Given the description of an element on the screen output the (x, y) to click on. 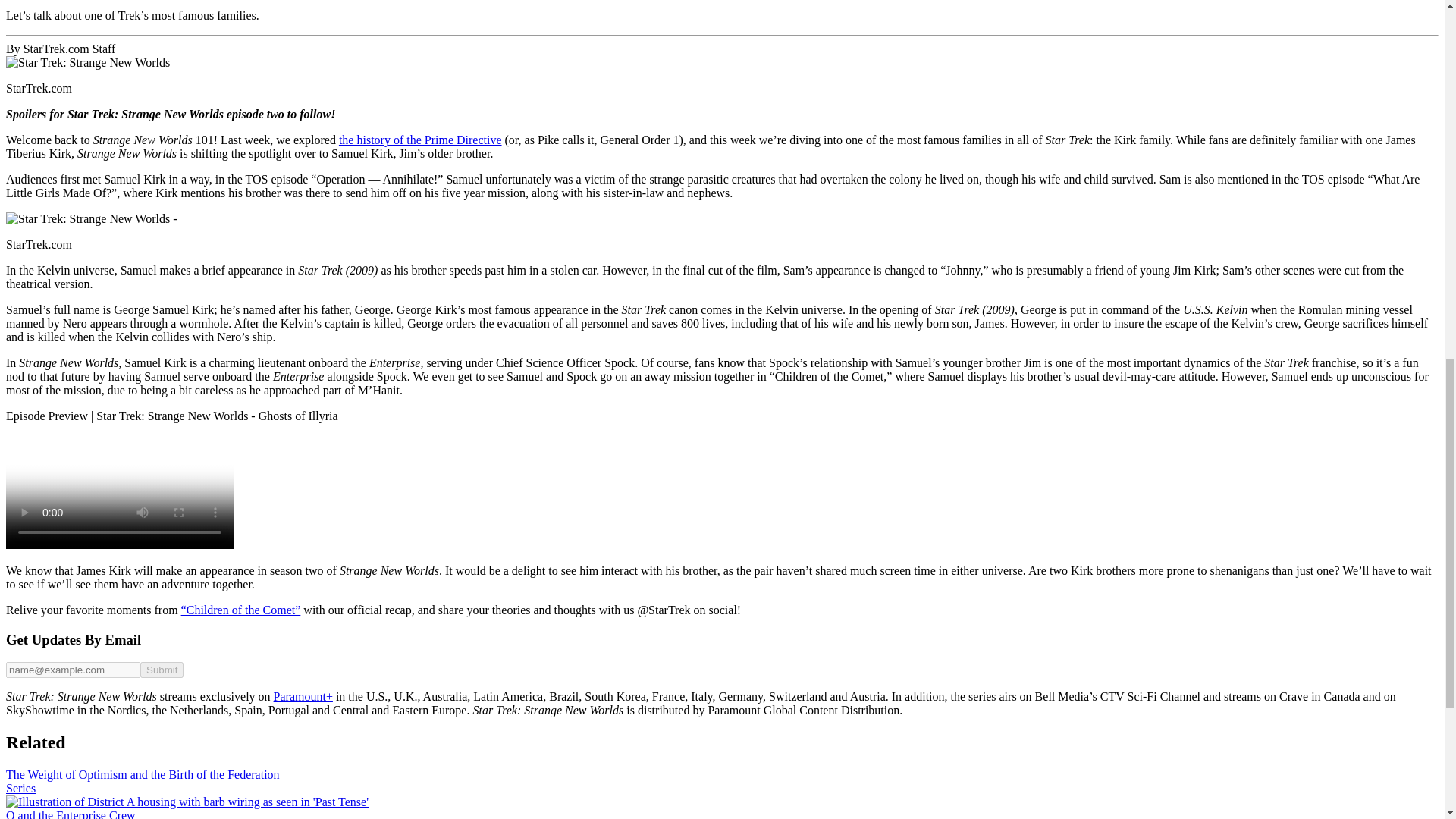
Q and the Enterprise Crew (70, 814)
Series (19, 788)
The Weight of Optimism and the Birth of the Federation (142, 774)
Submit (161, 669)
the history of the Prime Directive (420, 139)
